Given the description of an element on the screen output the (x, y) to click on. 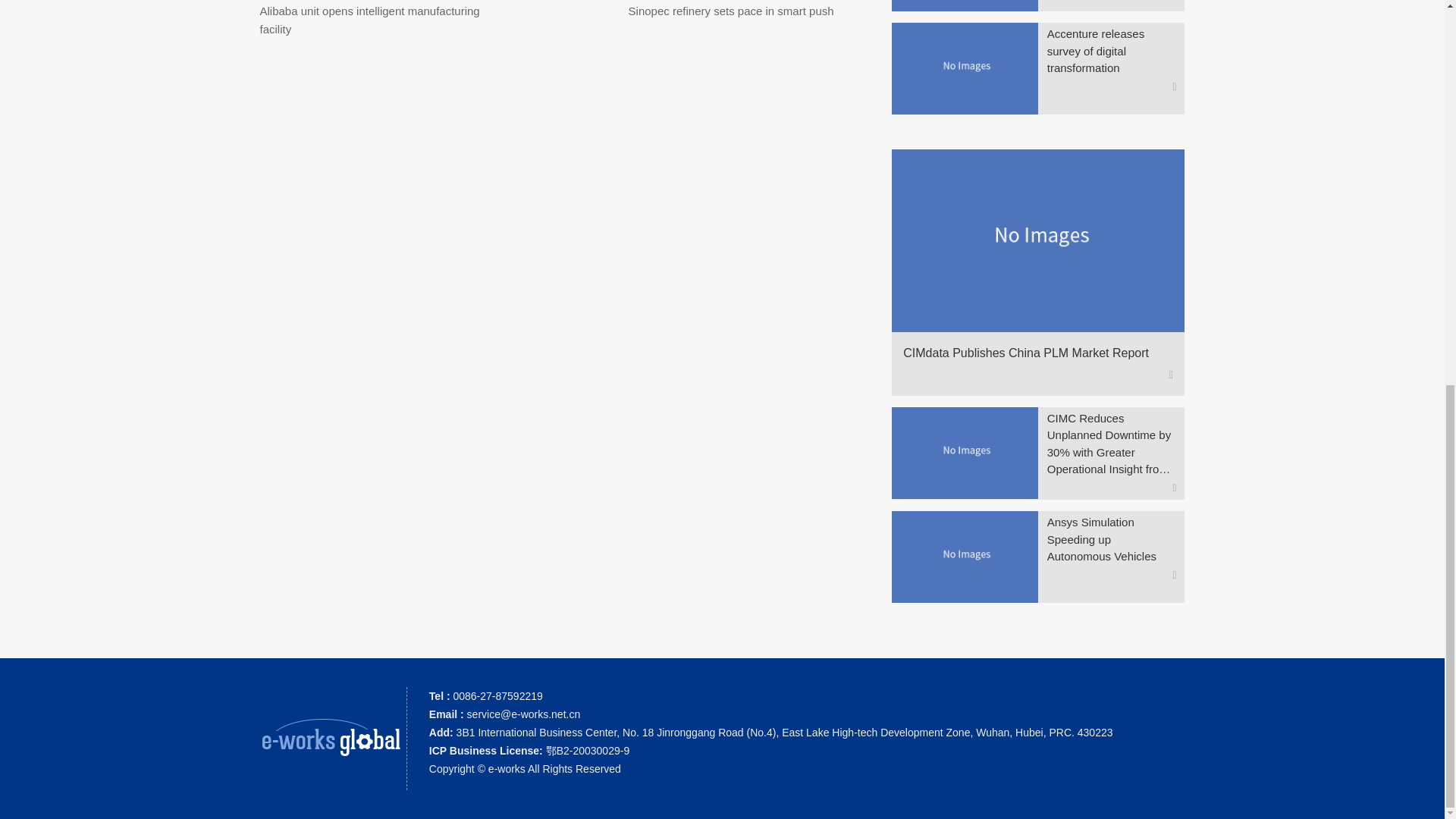
Accenture releases survey of digital transformation (1111, 50)
Sinopec refinery sets pace in smart push (731, 10)
CIMdata Publishes China PLM Market Report (1030, 352)
Ansys Simulation Speeding up Autonomous Vehicles (1111, 539)
Alibaba unit opens intelligent manufacturing facility (369, 20)
